Given the description of an element on the screen output the (x, y) to click on. 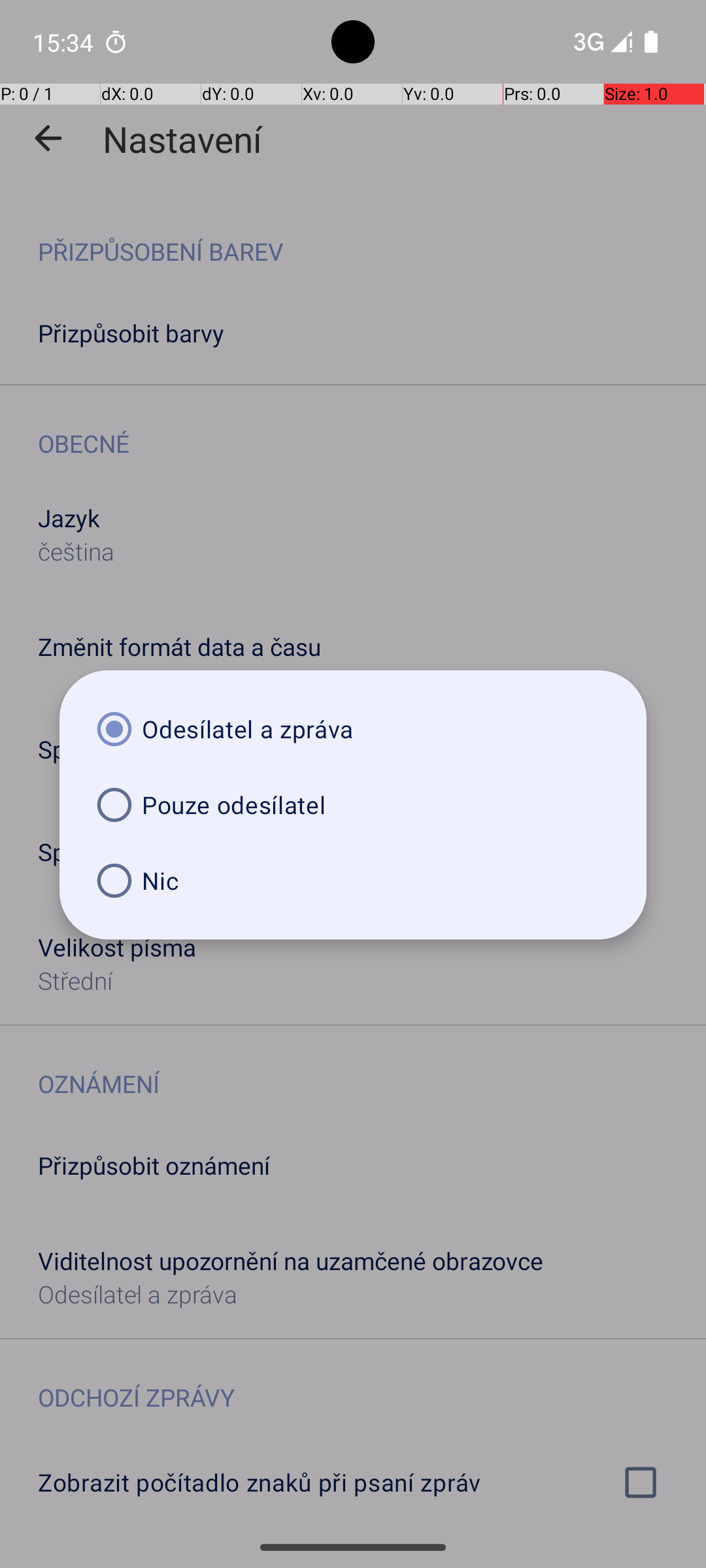
Odesílatel a zpráva Element type: android.widget.RadioButton (352, 729)
Pouze odesílatel Element type: android.widget.RadioButton (352, 804)
Nic Element type: android.widget.RadioButton (352, 880)
